Given the description of an element on the screen output the (x, y) to click on. 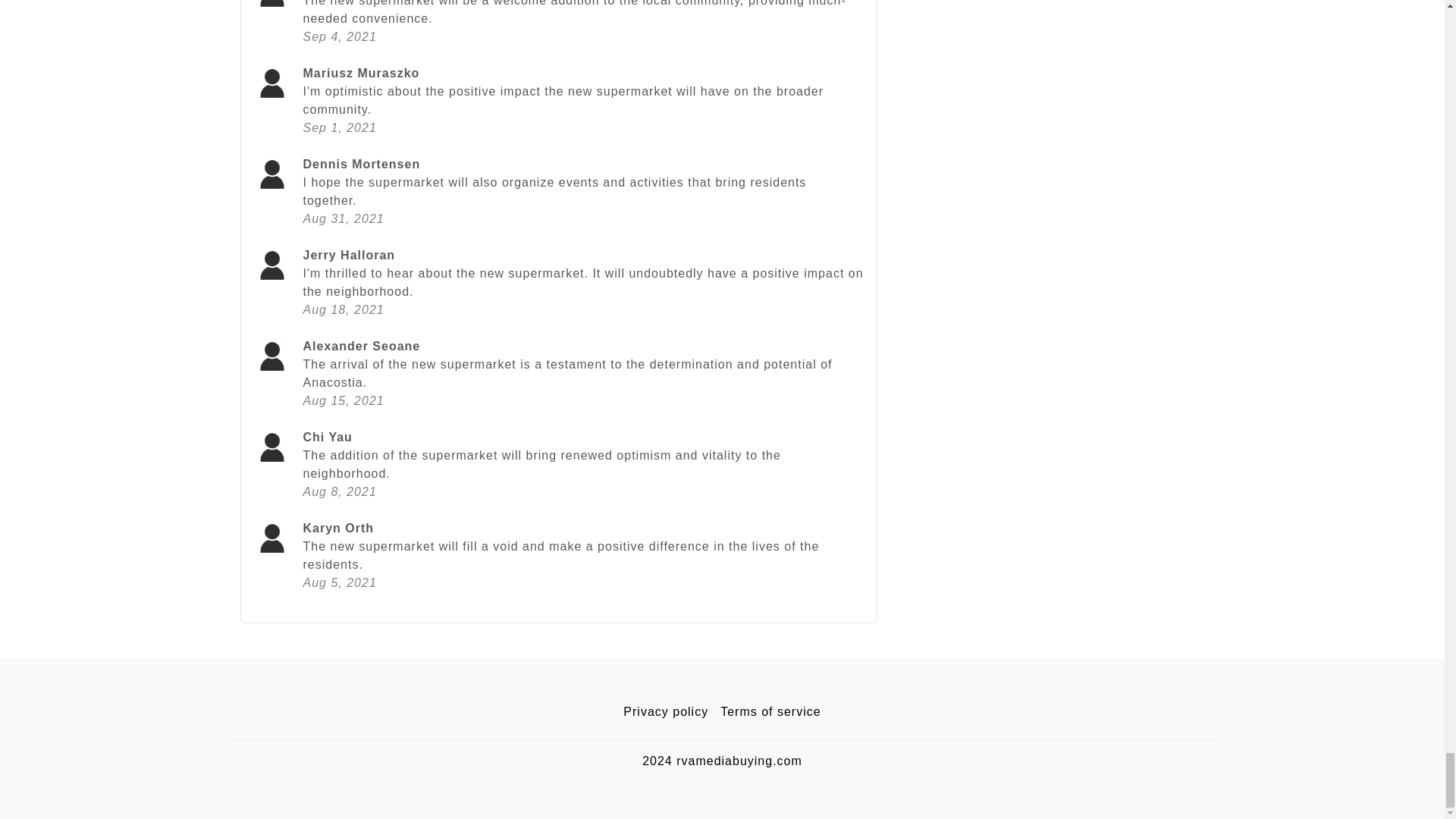
Privacy policy (665, 711)
Terms of service (770, 711)
